Given the description of an element on the screen output the (x, y) to click on. 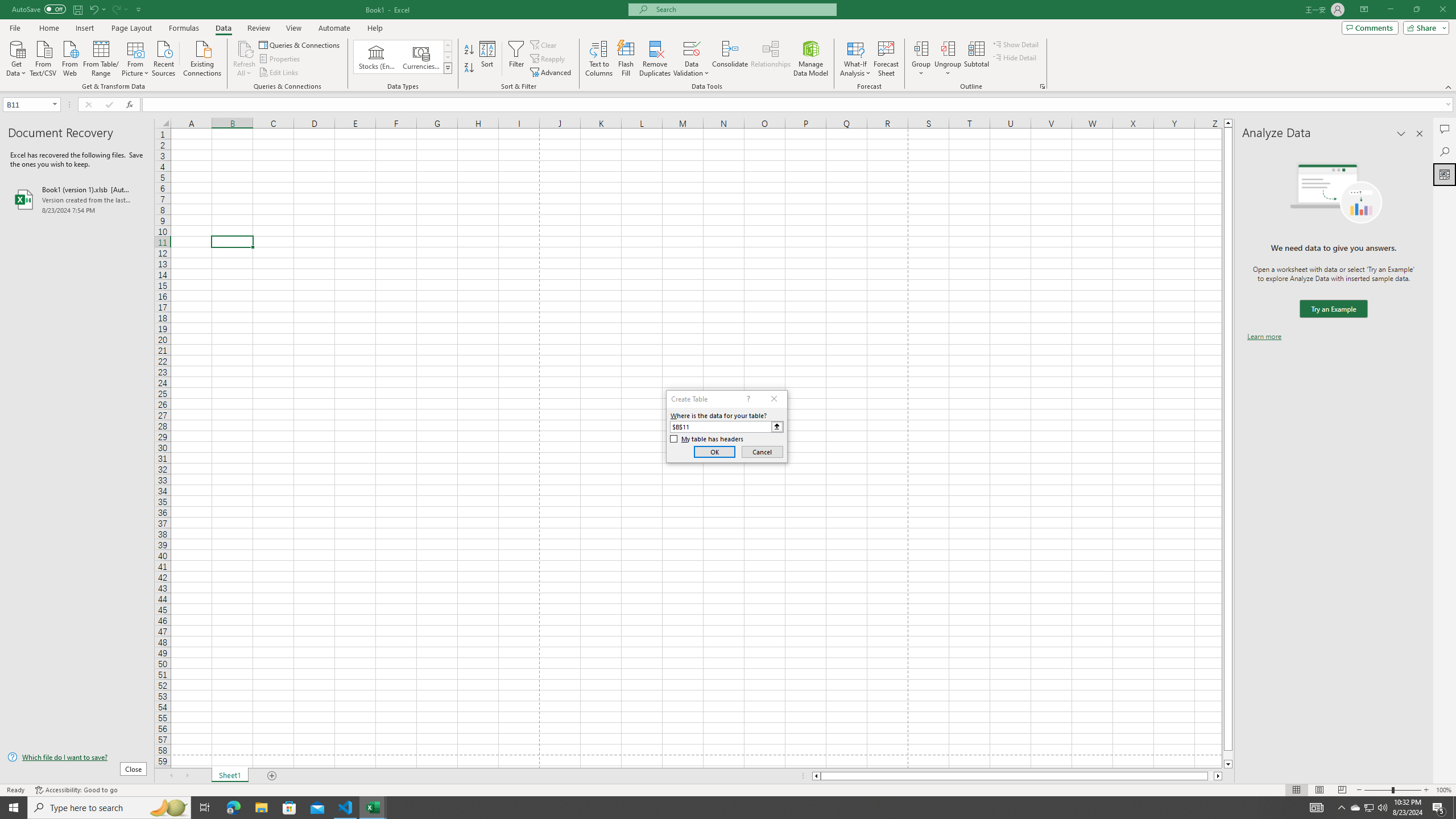
Analyze Data (1444, 173)
